Given the description of an element on the screen output the (x, y) to click on. 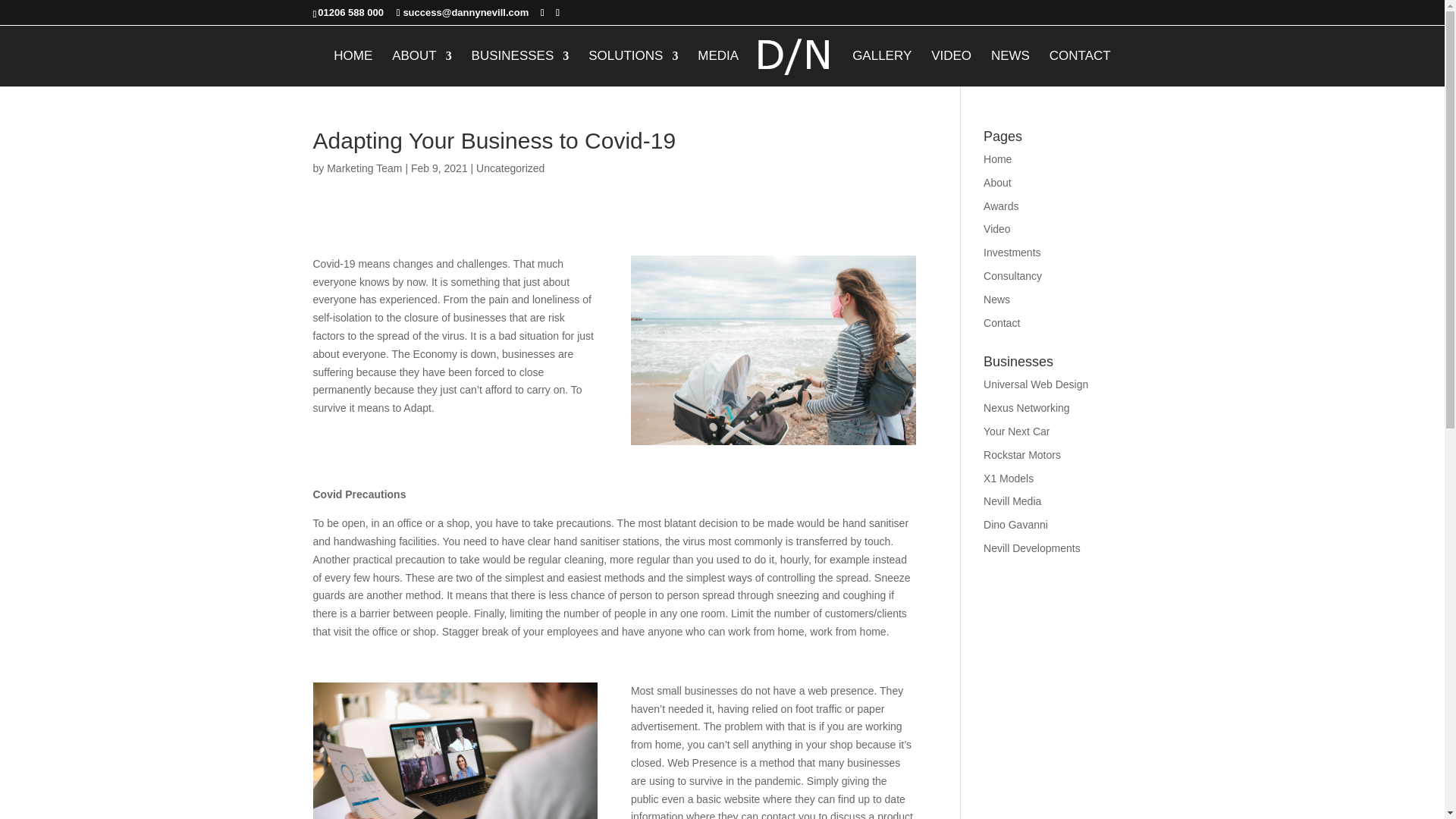
NEWS (1010, 67)
BUSINESSES (520, 67)
GALLERY (881, 67)
SOLUTIONS (633, 67)
HOME (352, 67)
ABOUT (421, 67)
CONTACT (1079, 67)
MEDIA (717, 67)
Posts by Marketing Team (363, 168)
VIDEO (951, 67)
